Given the description of an element on the screen output the (x, y) to click on. 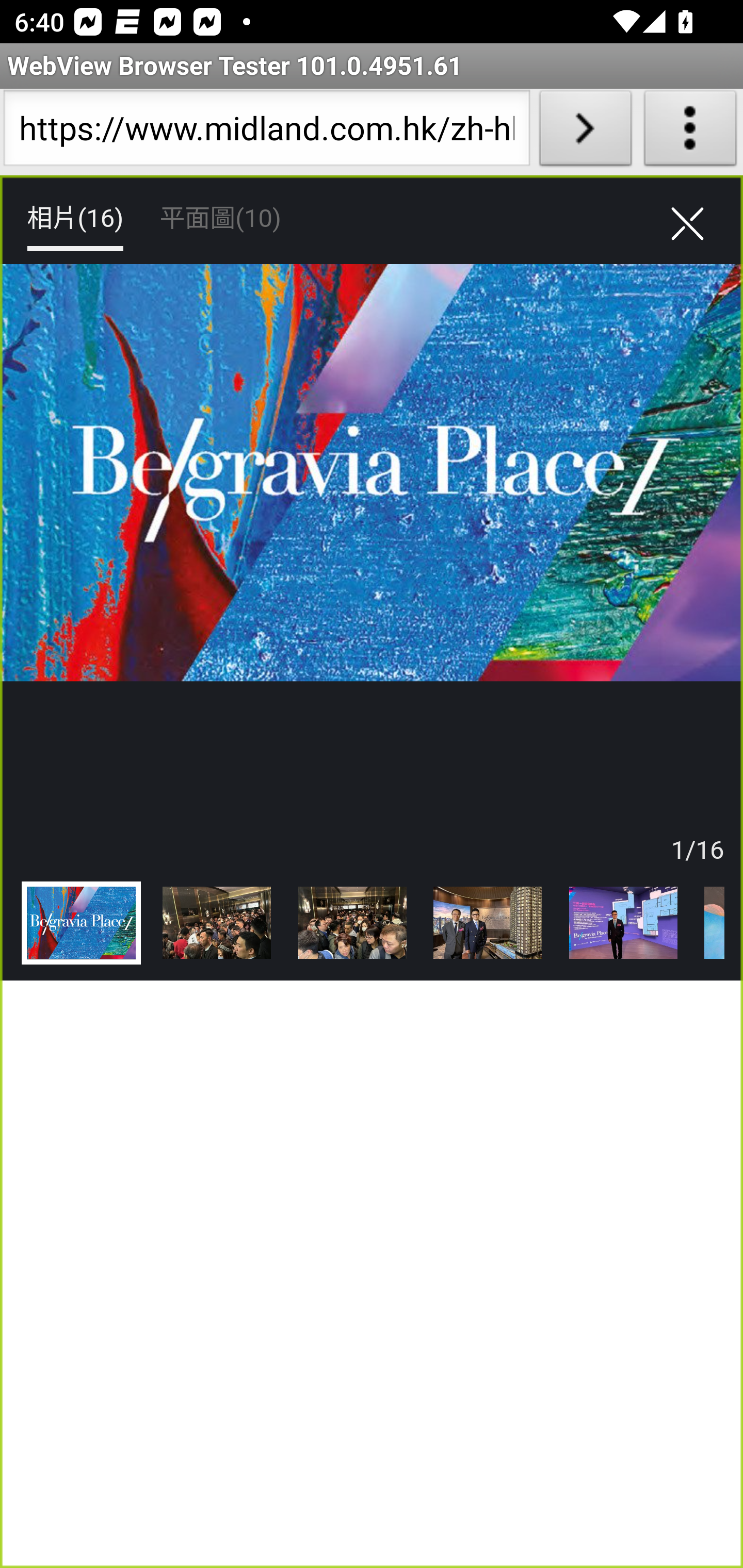
Load URL (585, 132)
About WebView (690, 132)
相片(16) (74, 218)
平面圖(10) (220, 218)
